Given the description of an element on the screen output the (x, y) to click on. 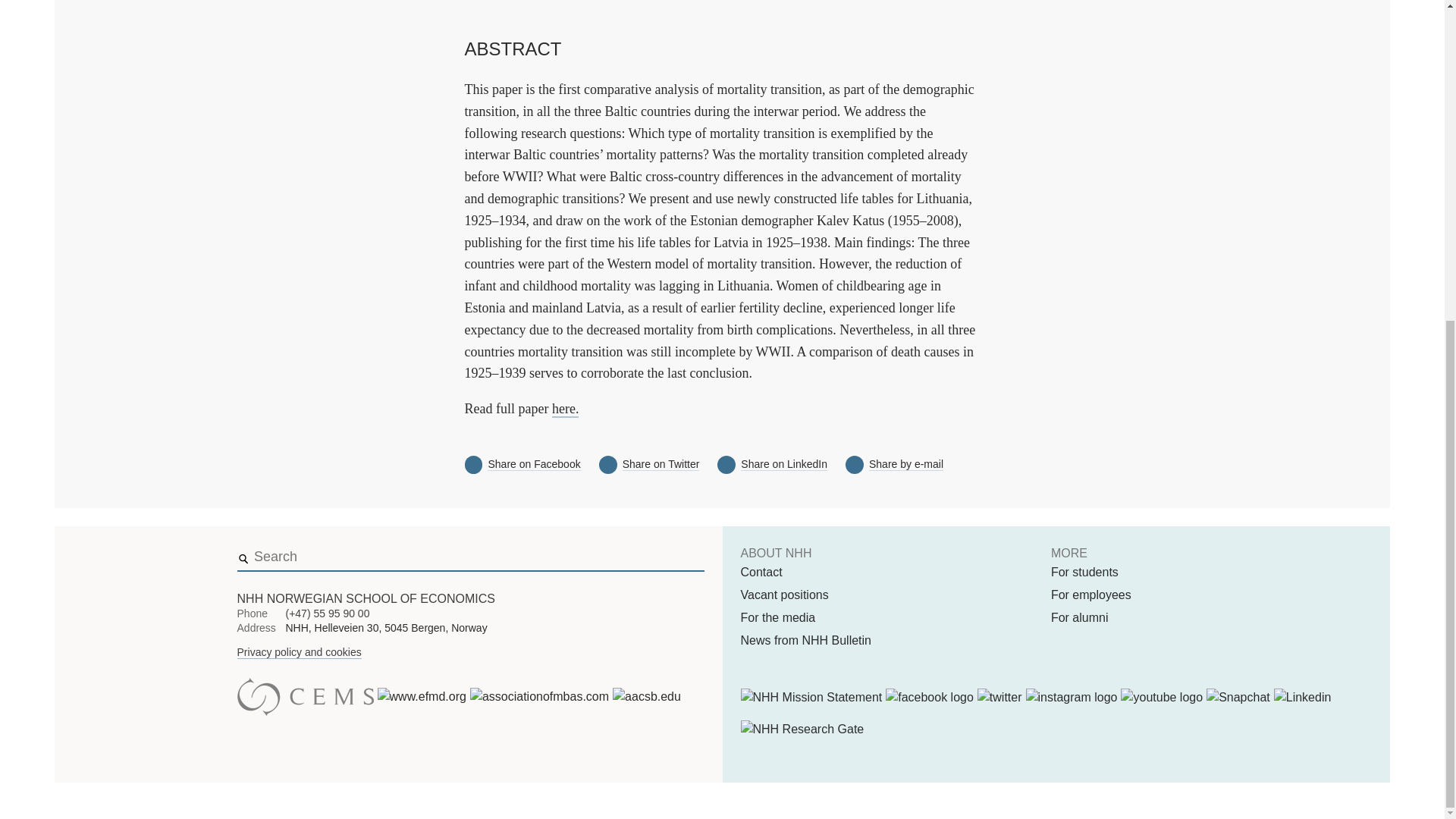
For the media (777, 617)
Privacy policy and cookies (299, 652)
here. (564, 409)
Share on Twitter (661, 463)
Vacant positions (783, 594)
For students (1084, 572)
Contact (760, 572)
Mortality transition in the interwar Baltic states (564, 409)
Share on Facebook (533, 463)
Share by e-mail (906, 463)
Share on LinkedIn (784, 463)
News from NHH Bulletin (804, 640)
For employees (1091, 594)
For alumni (1079, 617)
